Given the description of an element on the screen output the (x, y) to click on. 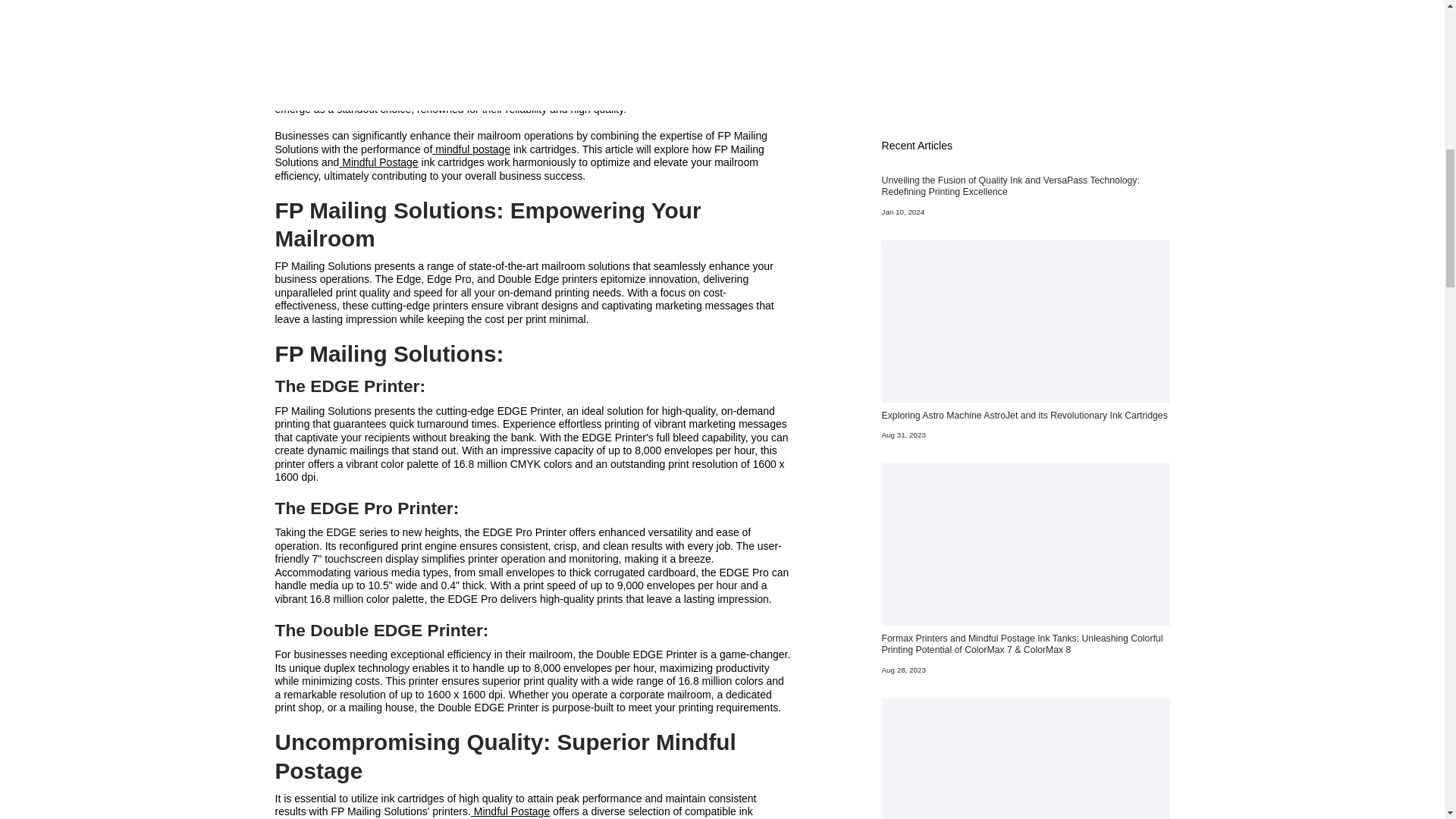
mindful postage (471, 148)
Mindful Postage (679, 95)
Mindful Postage (378, 162)
